Given the description of an element on the screen output the (x, y) to click on. 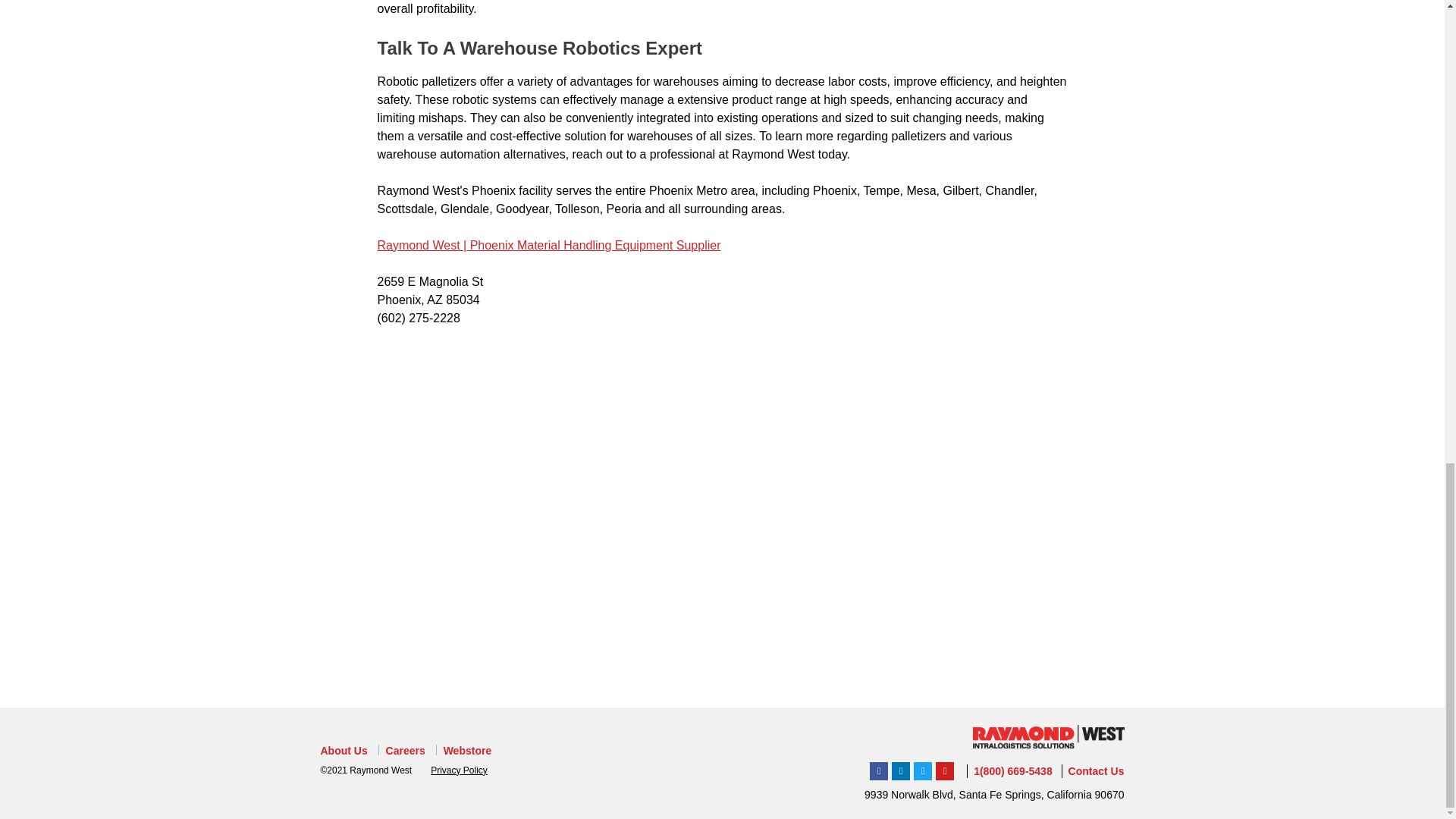
Raymond West Intralogistics Solutions (878, 771)
The Raymond Corporation (944, 771)
Raymond West Intralogistics Solutions (922, 771)
Raymond West Intralogistics Solutions (900, 771)
